Given the description of an element on the screen output the (x, y) to click on. 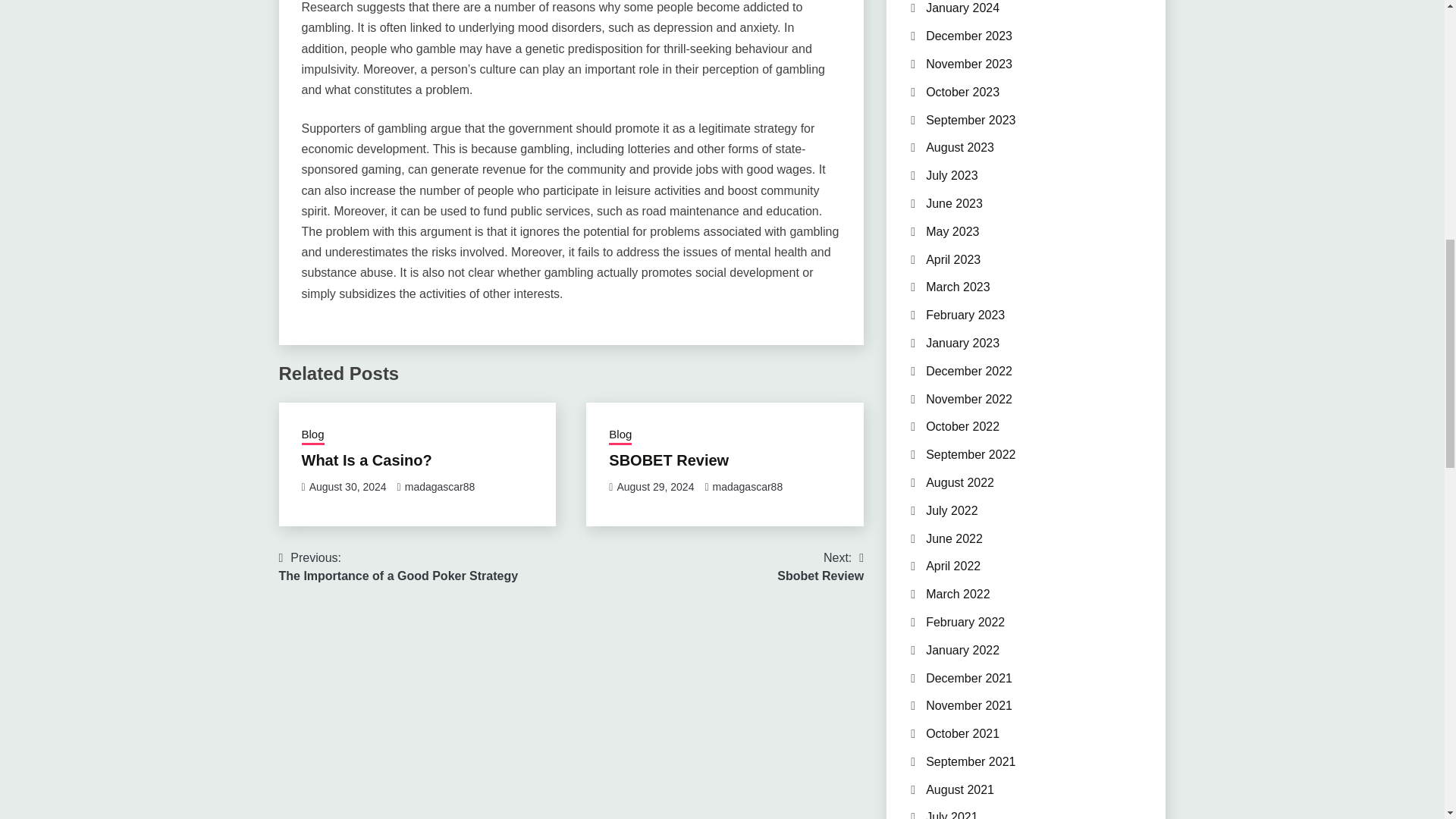
Blog (312, 435)
SBOBET Review (668, 460)
What Is a Casino? (820, 566)
August 29, 2024 (366, 460)
Blog (654, 486)
August 30, 2024 (619, 435)
madagascar88 (347, 486)
madagascar88 (748, 486)
